Given the description of an element on the screen output the (x, y) to click on. 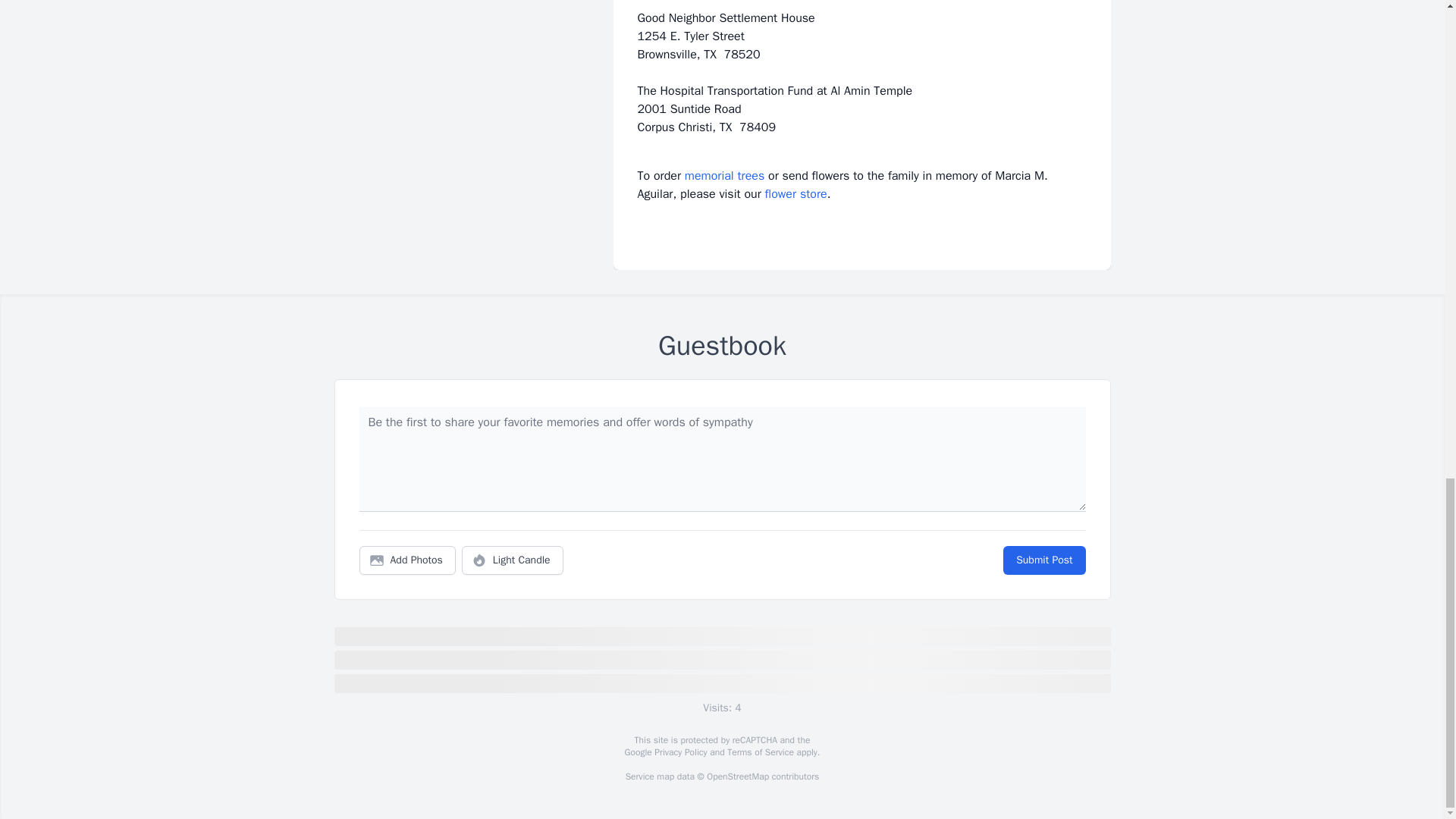
Privacy Policy (679, 752)
Light Candle (512, 560)
memorial trees (724, 175)
flower store (796, 193)
OpenStreetMap (737, 776)
Add Photos (407, 560)
Terms of Service (759, 752)
Submit Post (1043, 560)
